Given the description of an element on the screen output the (x, y) to click on. 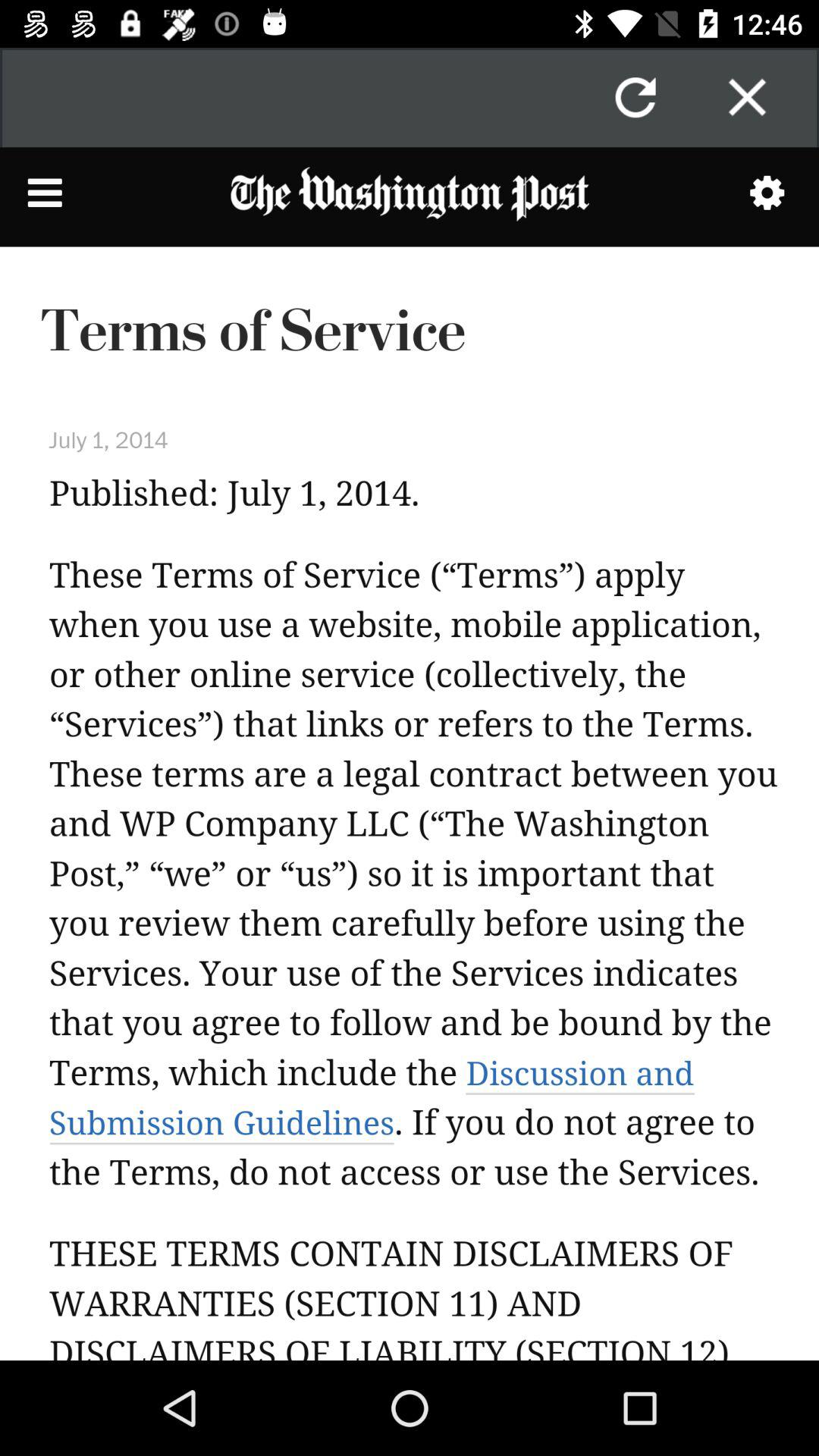
close window (747, 97)
